Given the description of an element on the screen output the (x, y) to click on. 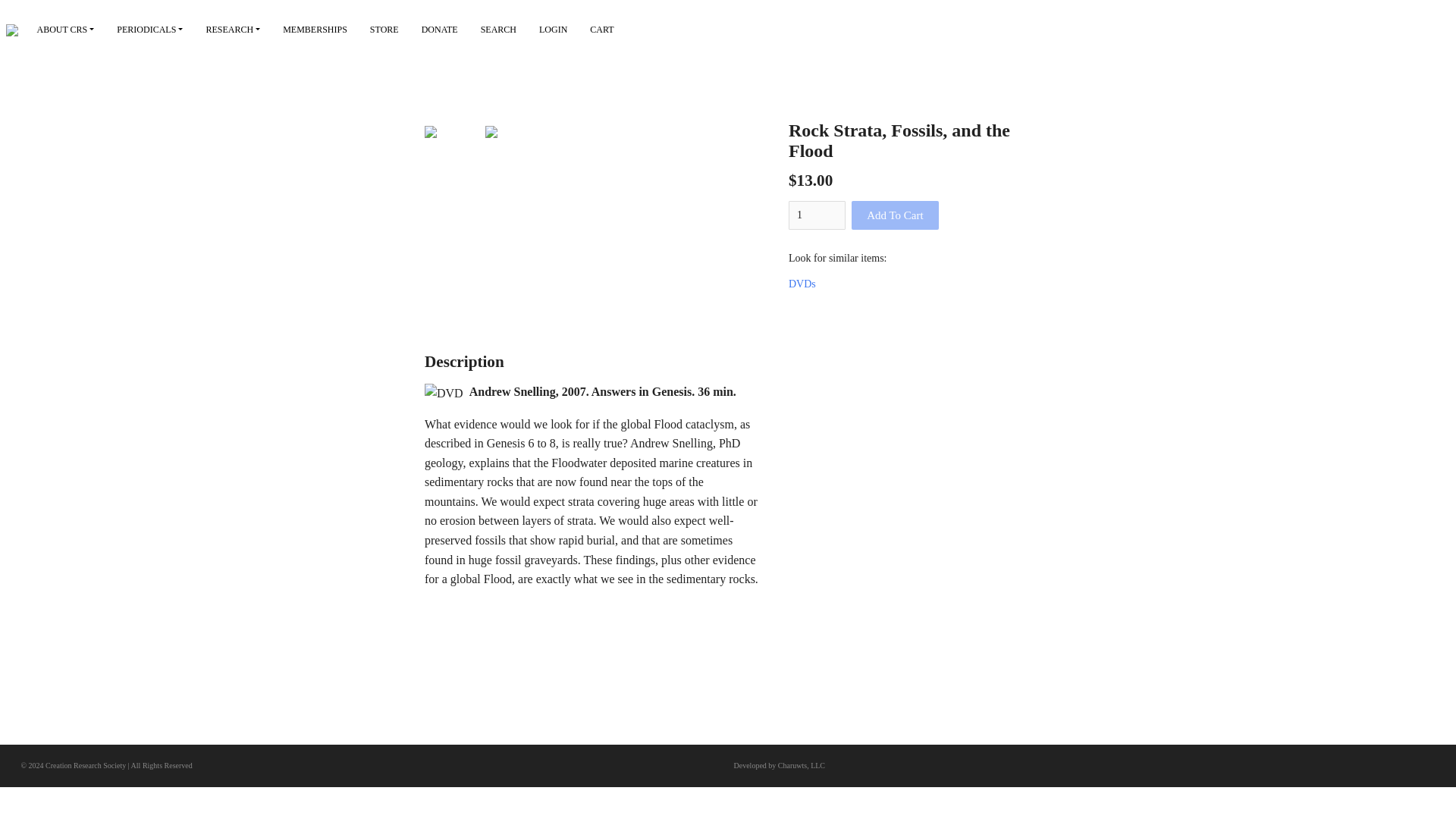
1 (817, 215)
MEMBERSHIPS (314, 29)
RESEARCH (231, 29)
Add To Cart (895, 215)
ABOUT CRS (66, 29)
DVDs (802, 283)
PERIODICALS (148, 29)
Developed by Charuwts, LLC (779, 765)
SEARCH (497, 29)
DONATE (439, 29)
About Crs (66, 29)
